Given the description of an element on the screen output the (x, y) to click on. 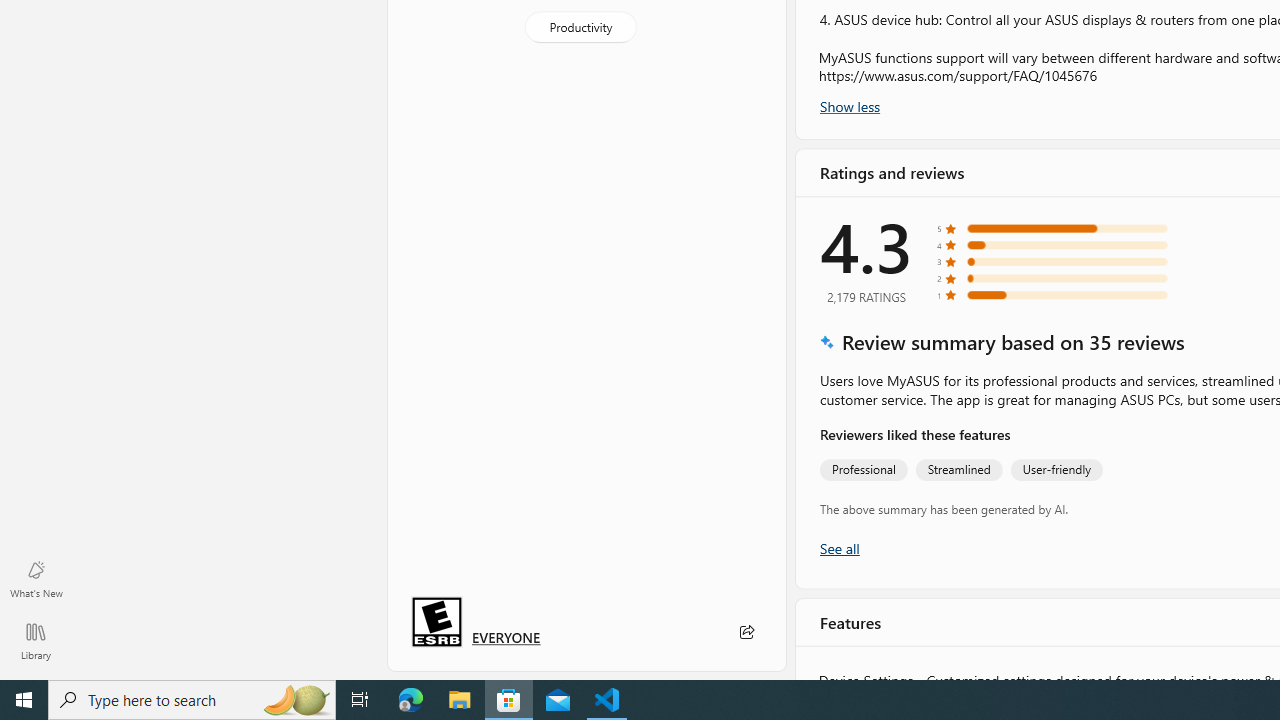
Show less (850, 104)
Share (746, 632)
Show all ratings and reviews (838, 547)
Age rating: EVERYONE. Click for more information. (506, 637)
Productivity (579, 26)
